Given the description of an element on the screen output the (x, y) to click on. 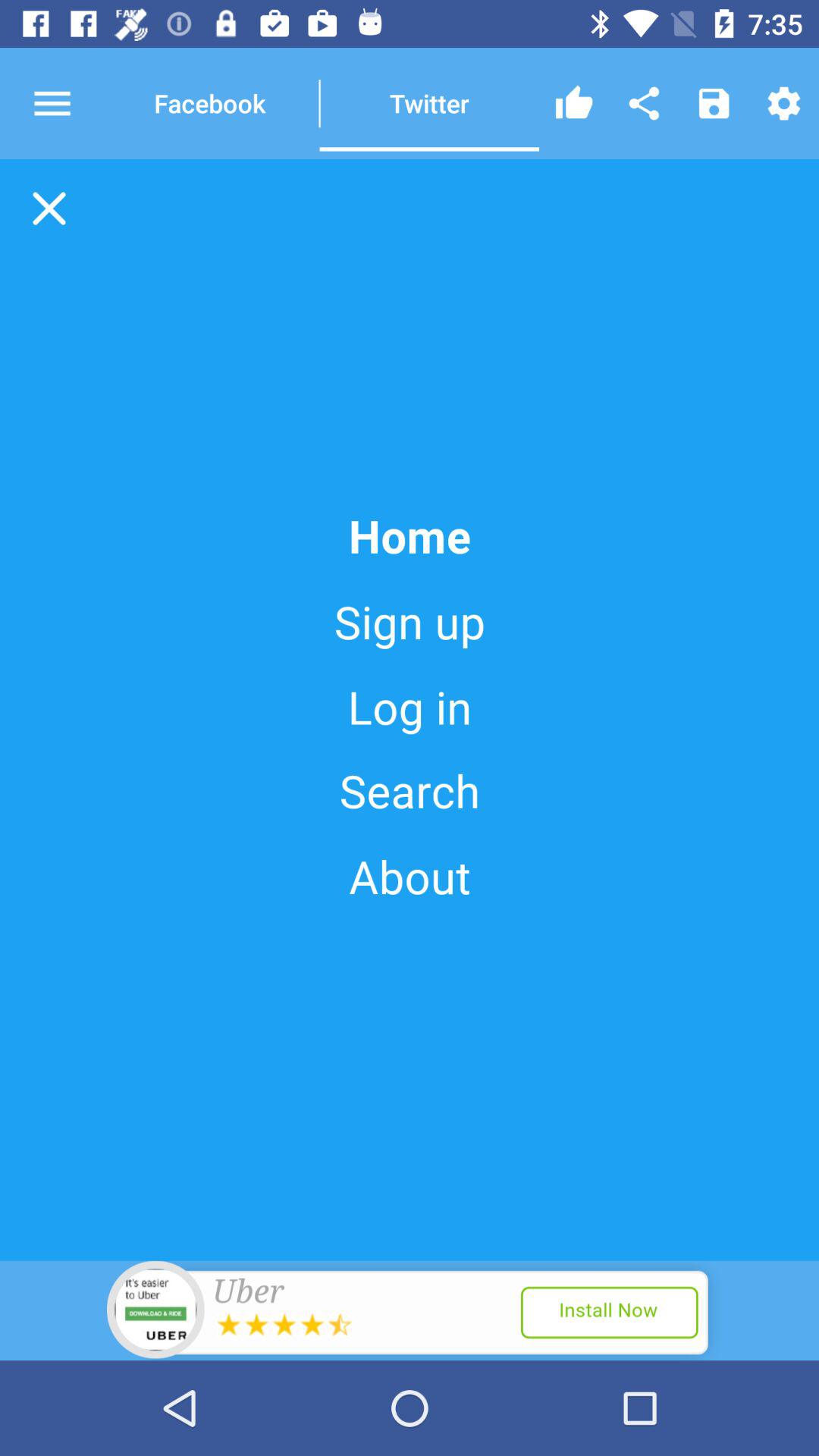
share the page (644, 103)
